Given the description of an element on the screen output the (x, y) to click on. 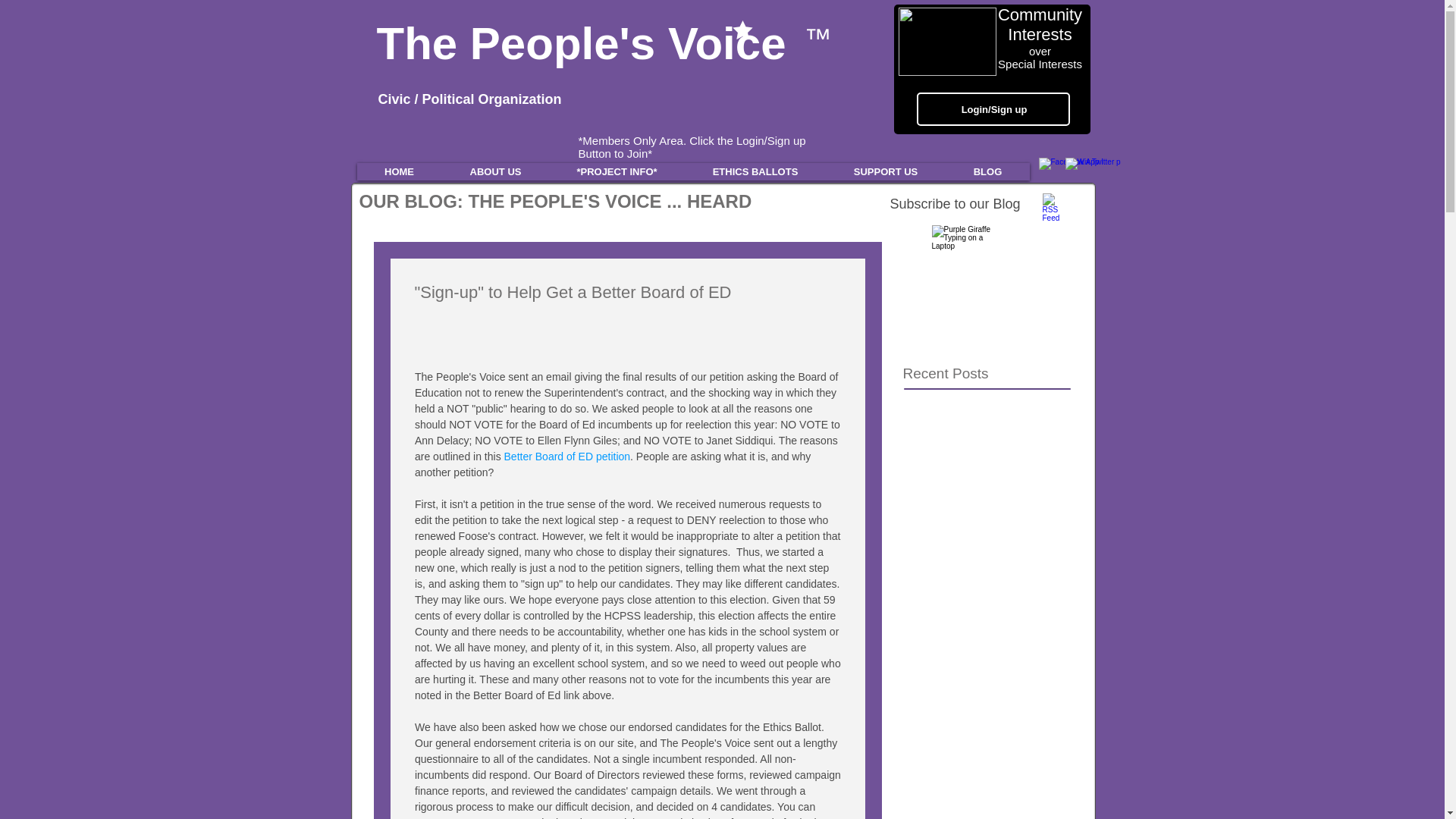
ABOUT US (494, 171)
BLOG (986, 171)
SUPPORT US (884, 171)
HOME (398, 171)
ETHICS BALLOTS (754, 171)
Better Board of ED petition (566, 456)
RSS Feed (1053, 205)
